Given the description of an element on the screen output the (x, y) to click on. 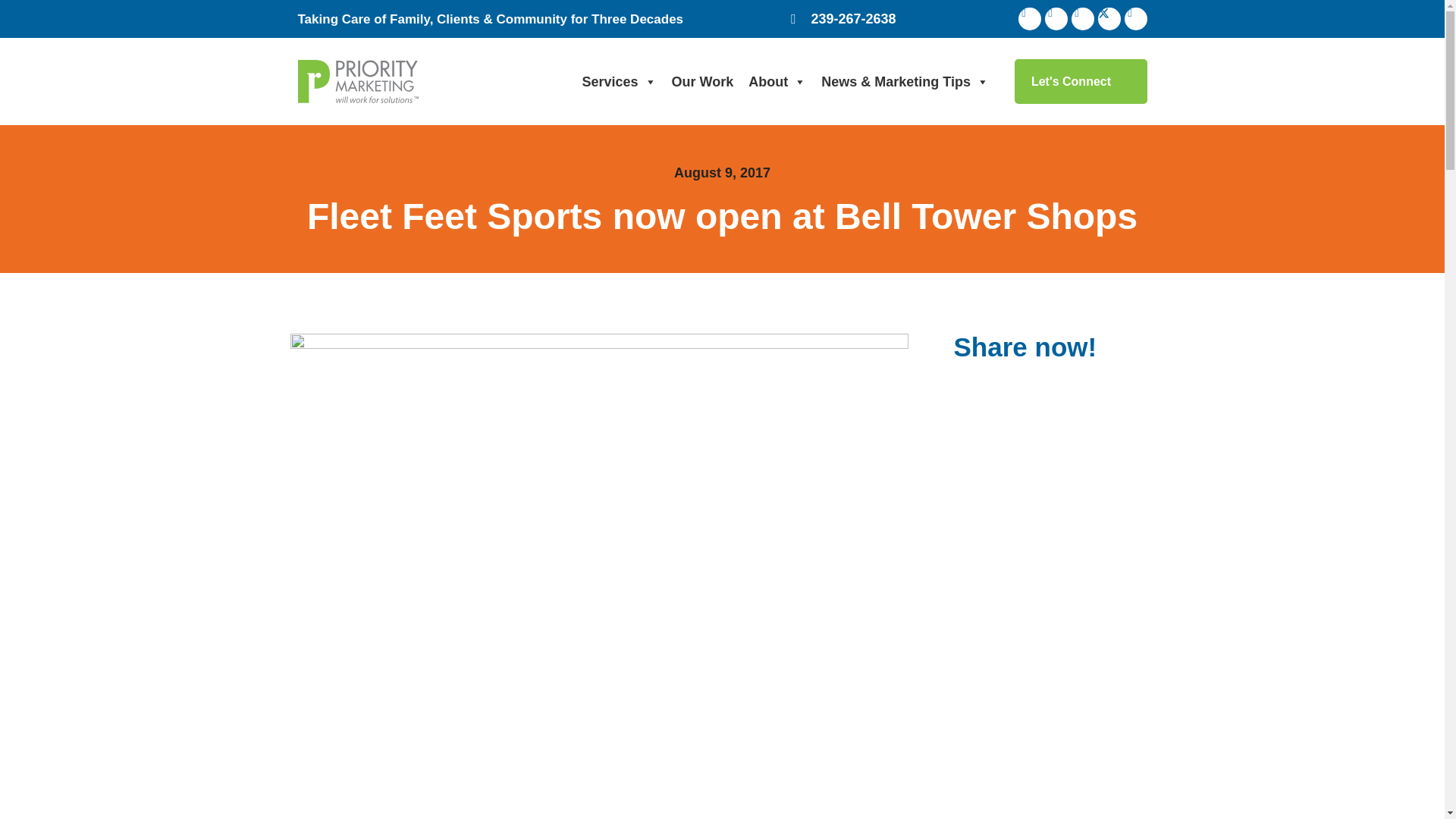
239-267-2638 (843, 19)
About (777, 81)
Services (619, 81)
Our Work (702, 81)
Let's Connect (1080, 81)
